Given the description of an element on the screen output the (x, y) to click on. 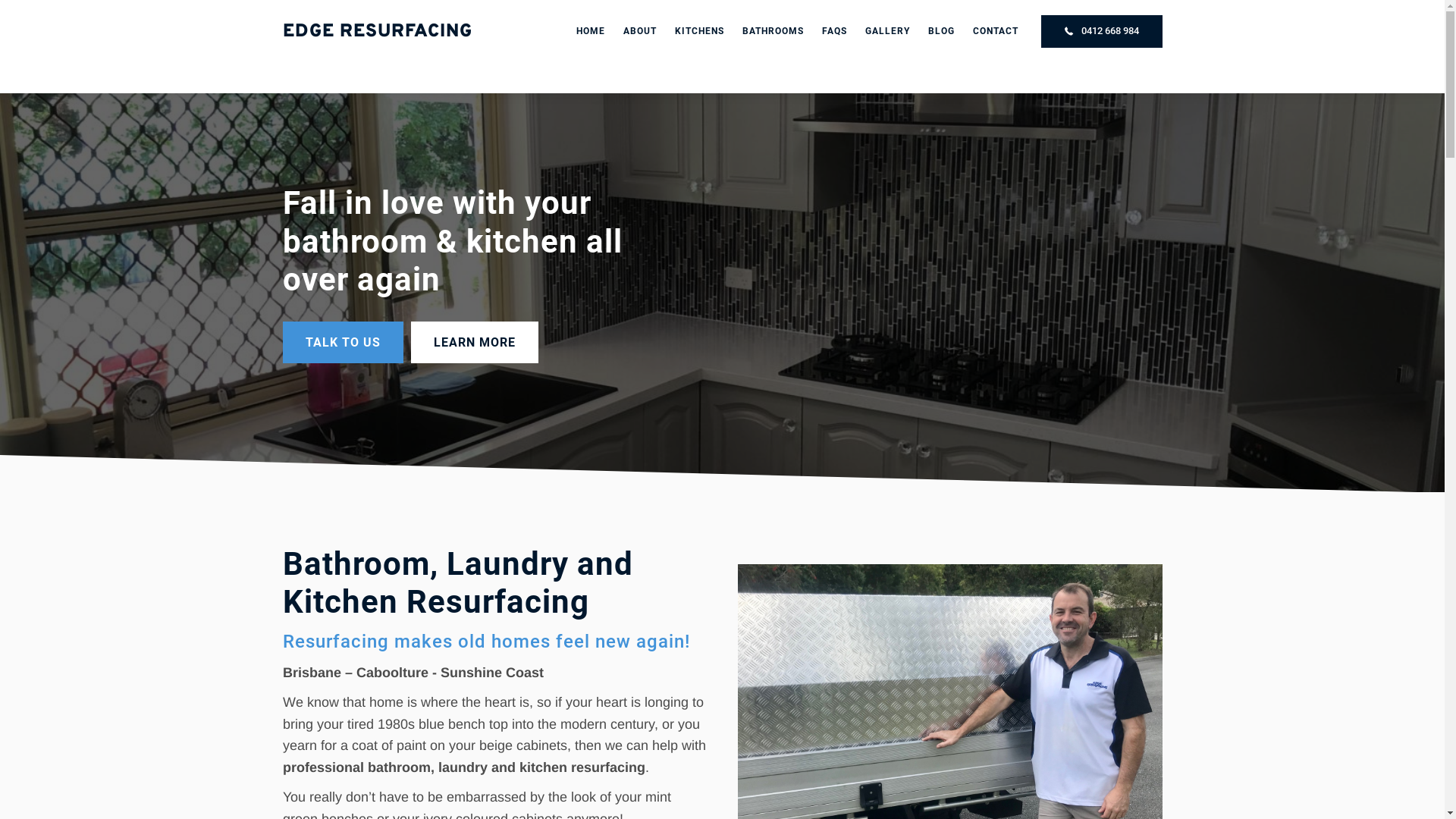
ABOUT Element type: text (639, 31)
EDGE RESURFACING Element type: text (376, 31)
GALLERY Element type: text (886, 31)
TALK TO US Element type: text (342, 341)
CONTACT Element type: text (994, 31)
LEARN MORE Element type: text (474, 341)
BLOG Element type: text (941, 31)
0412 668 984 Element type: text (1100, 31)
HOME Element type: text (590, 31)
KITCHENS Element type: text (699, 31)
BATHROOMS Element type: text (772, 31)
FAQS Element type: text (834, 31)
